Given the description of an element on the screen output the (x, y) to click on. 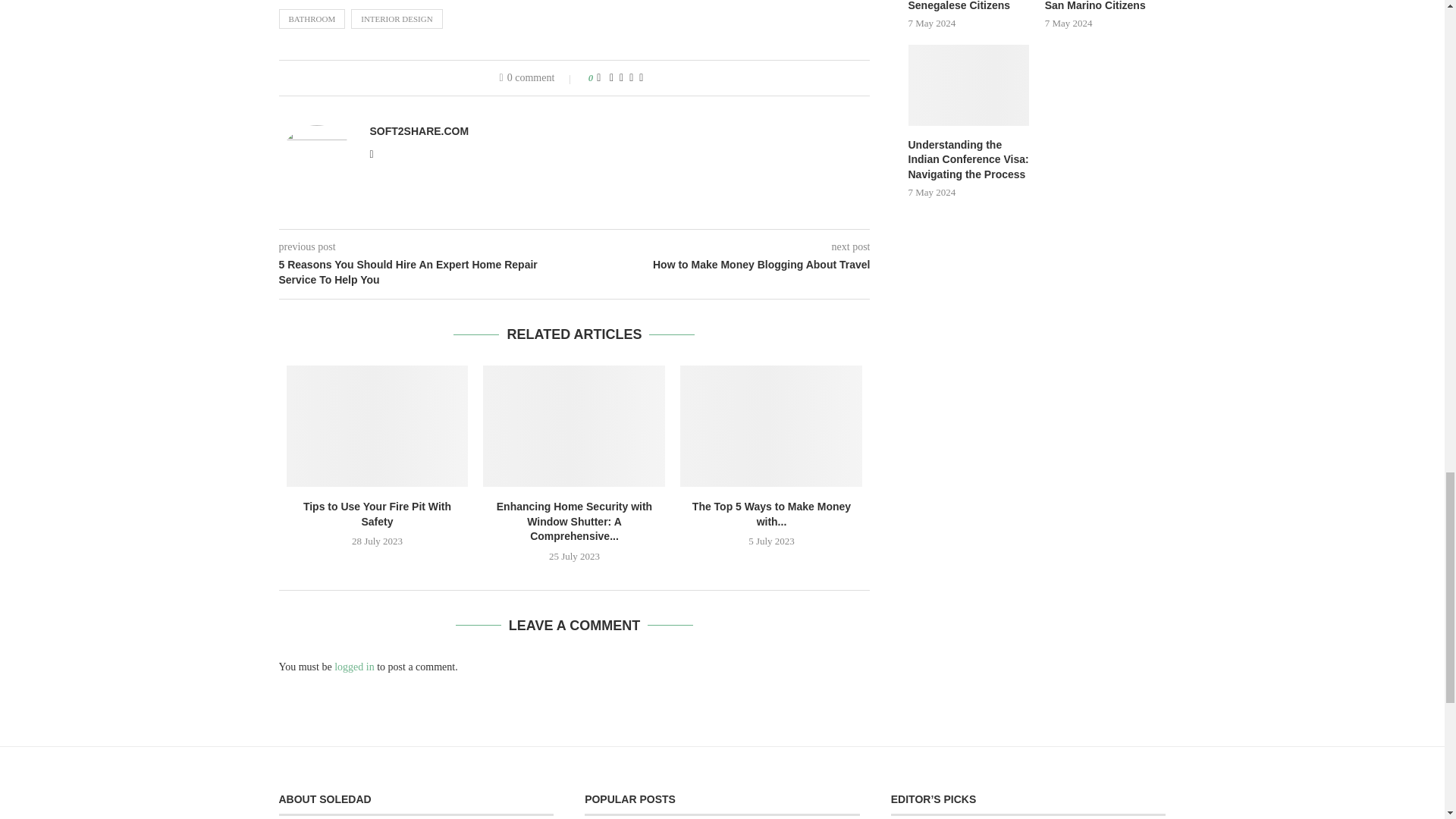
INTERIOR DESIGN (396, 18)
Tips to Use Your Fire Pit With Safety (377, 425)
The Top 5 Ways to Make Money with PLR Products (770, 425)
BATHROOM (312, 18)
Author Soft2share.com (418, 131)
